Given the description of an element on the screen output the (x, y) to click on. 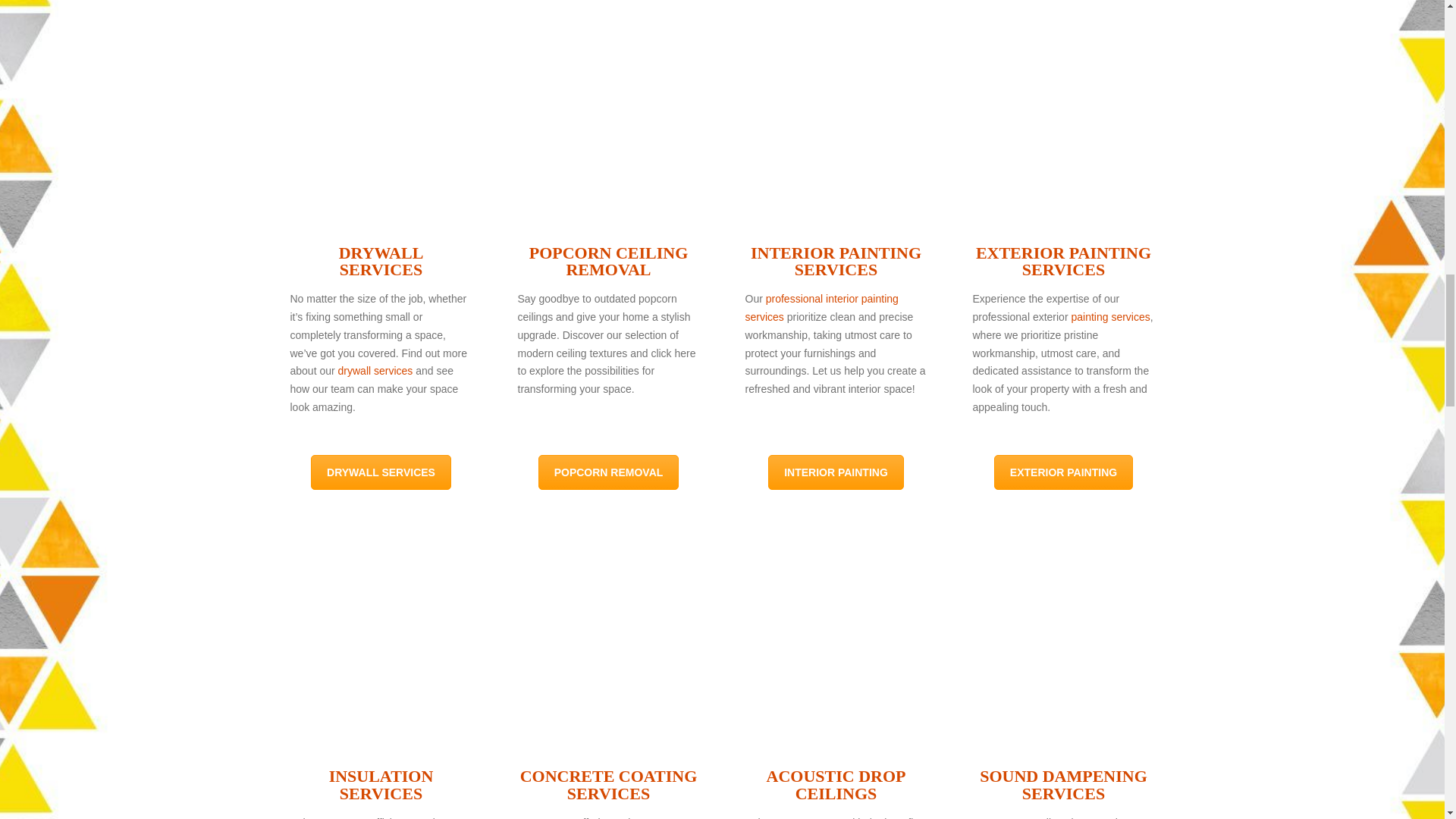
DRYWALL (381, 254)
SERVICES (380, 271)
